Given the description of an element on the screen output the (x, y) to click on. 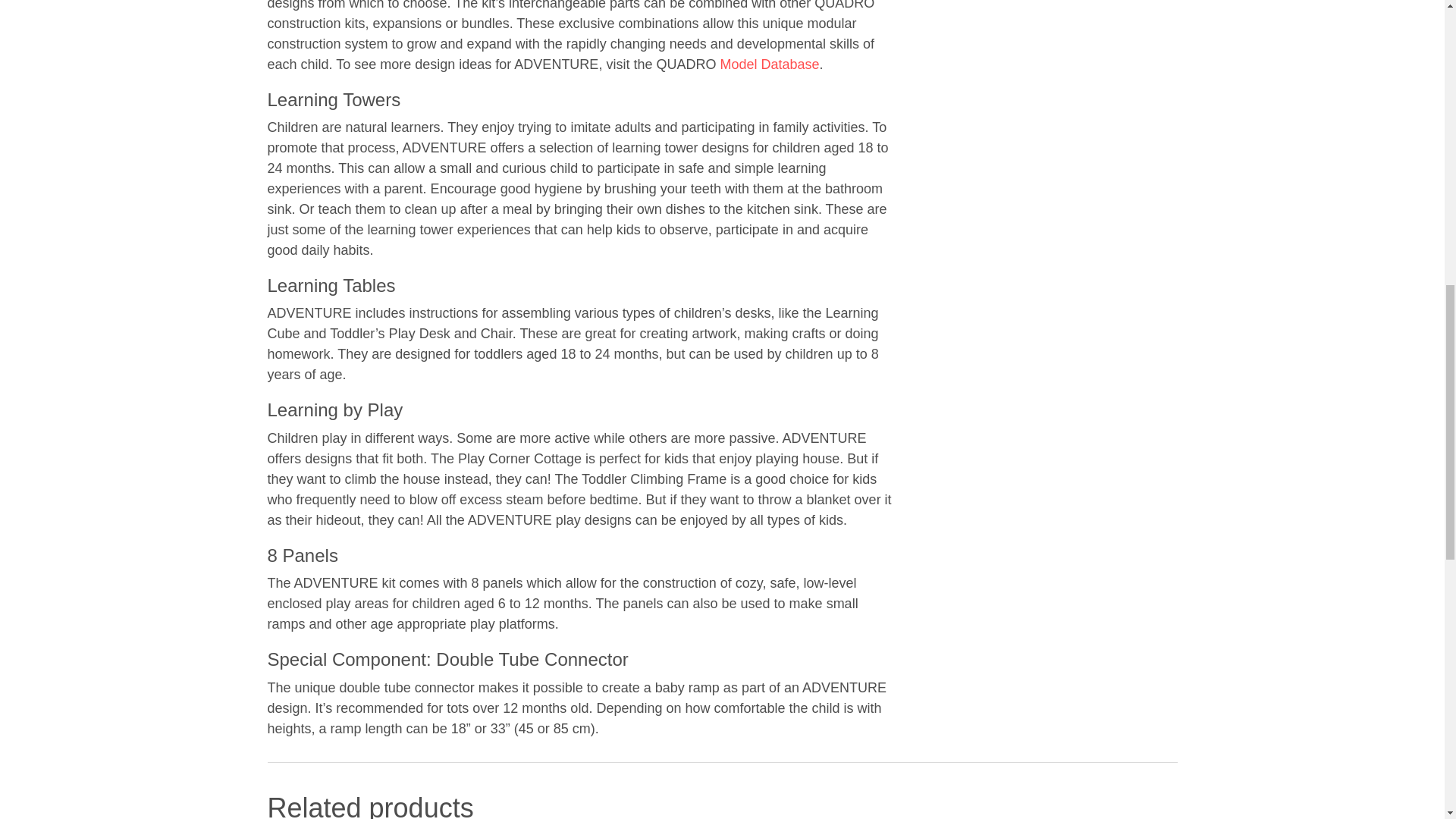
Model Database (768, 64)
UNIVERSAL (768, 64)
